Given the description of an element on the screen output the (x, y) to click on. 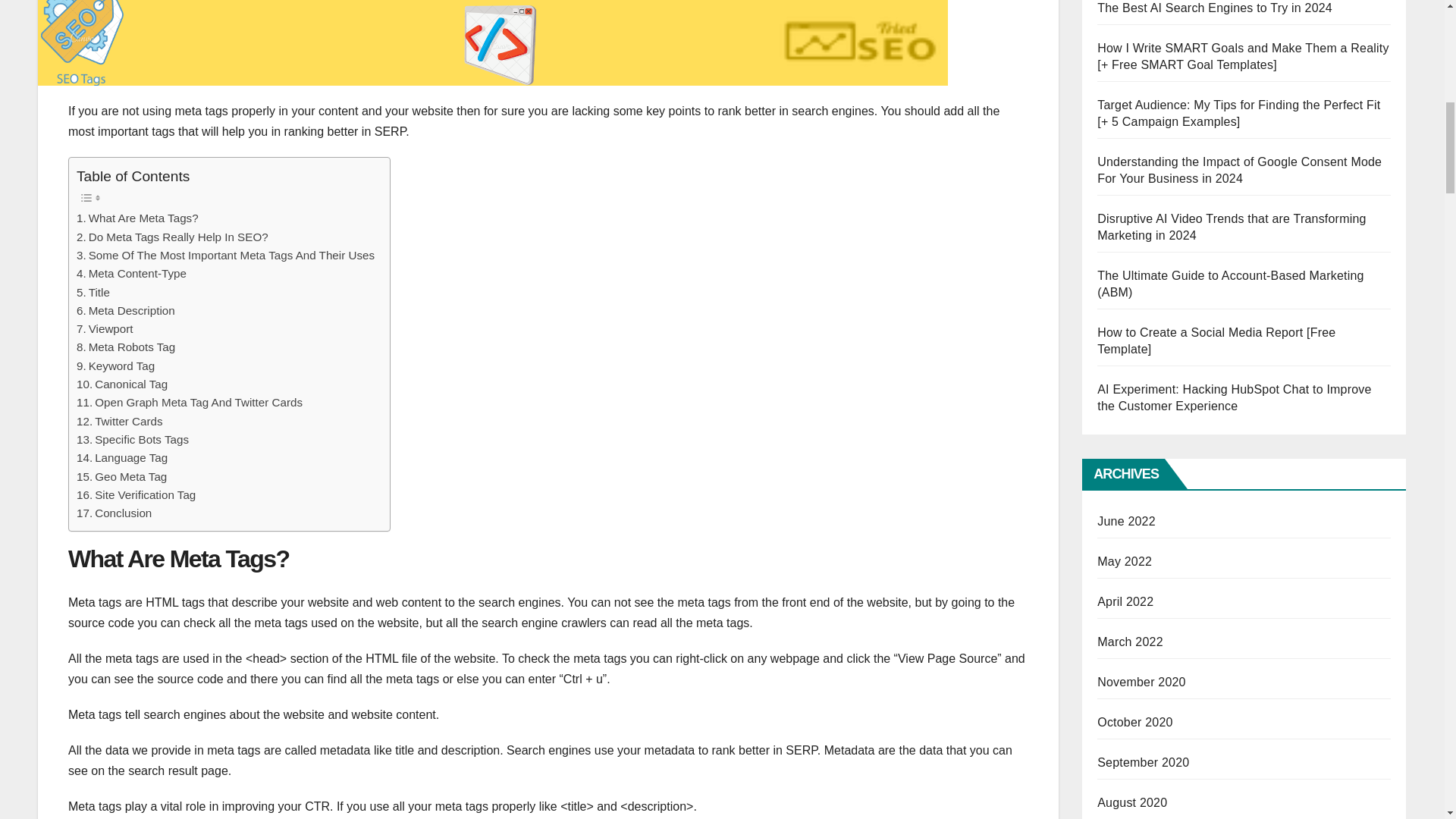
How Many Types Of Meta Tags Are There In A Website? 1 (492, 42)
Meta Content-Type (131, 273)
Meta Robots Tag (125, 347)
Title (93, 292)
Meta Description (125, 311)
What Are Meta Tags? (137, 218)
Some Of The Most Important Meta Tags And Their Uses (225, 255)
Some Of The Most Important Meta Tags And Their Uses (225, 255)
Do Meta Tags Really Help In SEO? (172, 237)
Viewport (105, 329)
Do Meta Tags Really Help In SEO? (172, 237)
What Are Meta Tags? (137, 218)
